Given the description of an element on the screen output the (x, y) to click on. 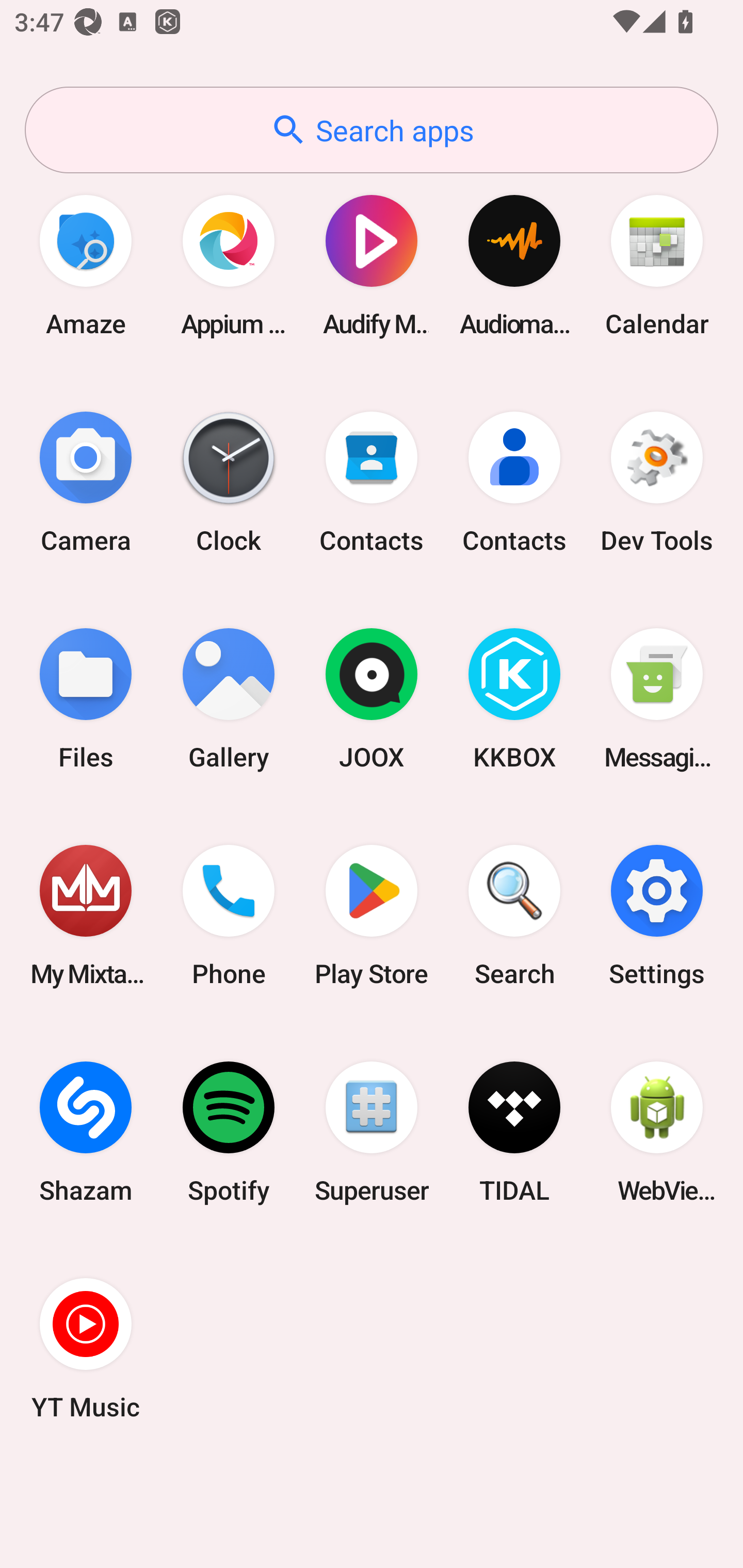
  Search apps (371, 130)
Amaze (85, 264)
Appium Settings (228, 264)
Audify Music Player (371, 264)
Audio­mack (514, 264)
Calendar (656, 264)
Camera (85, 482)
Clock (228, 482)
Contacts (371, 482)
Contacts (514, 482)
Dev Tools (656, 482)
Files (85, 699)
Gallery (228, 699)
JOOX (371, 699)
KKBOX (514, 699)
Messaging (656, 699)
My Mixtapez (85, 915)
Phone (228, 915)
Play Store (371, 915)
Search (514, 915)
Settings (656, 915)
Shazam (85, 1131)
Spotify (228, 1131)
Superuser (371, 1131)
TIDAL (514, 1131)
WebView Browser Tester (656, 1131)
YT Music (85, 1348)
